Given the description of an element on the screen output the (x, y) to click on. 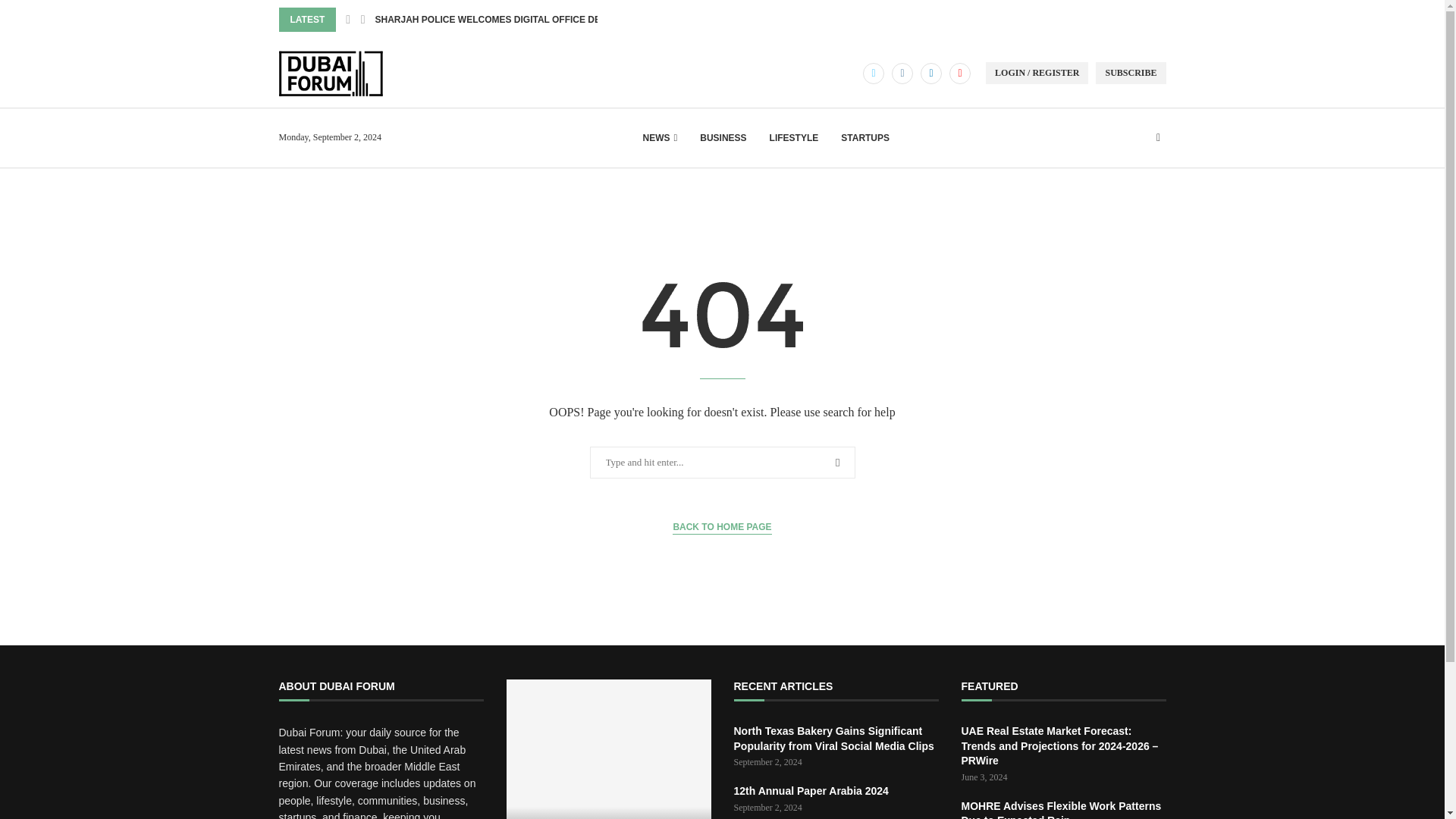
SHARJAH POLICE WELCOMES DIGITAL OFFICE DELEGATION (510, 19)
BUSINESS (722, 137)
LIFESTYLE (794, 137)
Sharjah Police Welcomes Digital Office Delegation (608, 812)
STARTUPS (865, 137)
SUBSCRIBE (1131, 73)
Sharjah Police Welcomes Digital Office Delegation (608, 749)
